Given the description of an element on the screen output the (x, y) to click on. 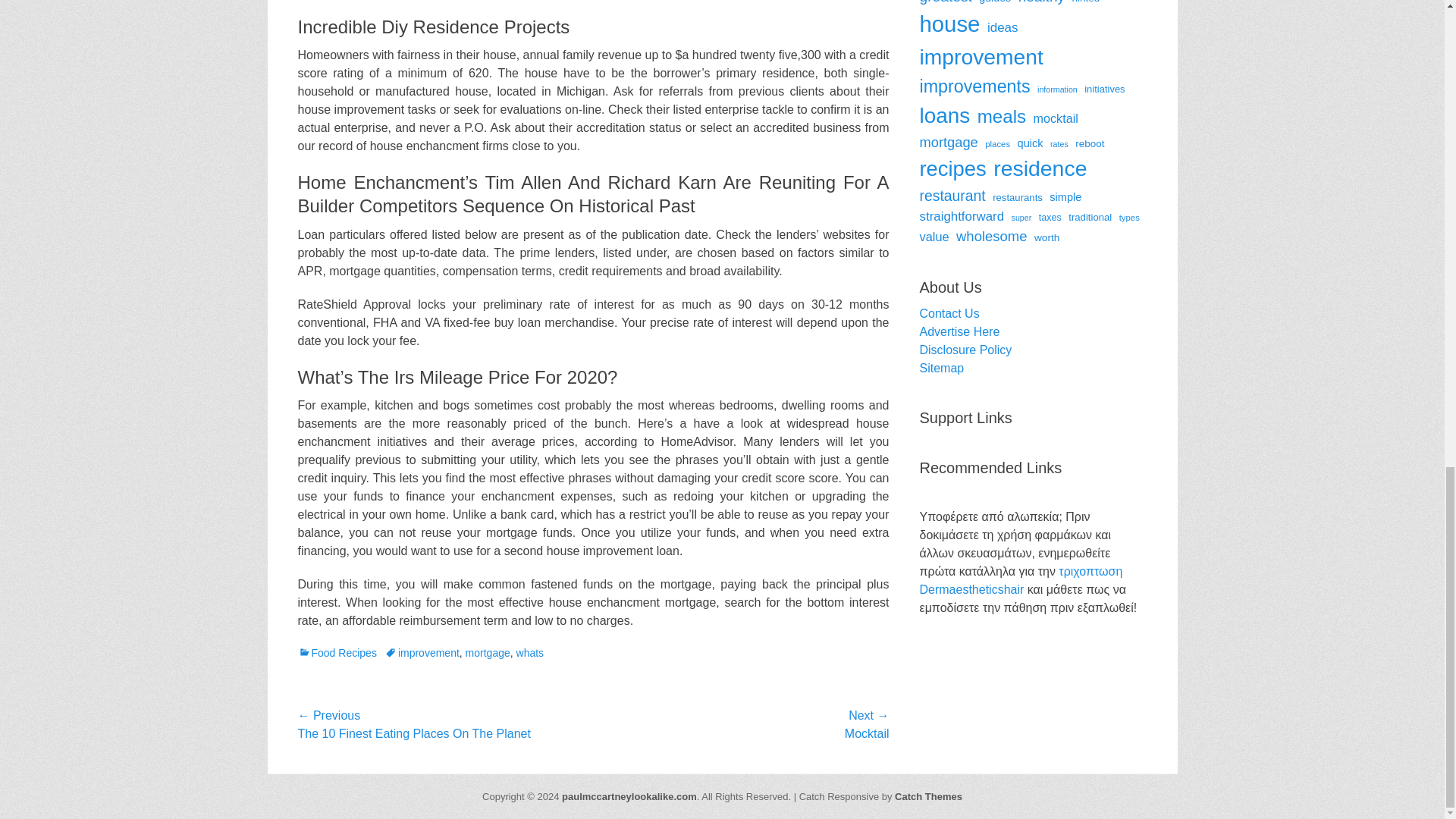
mortgage (488, 653)
improvement (422, 653)
whats (530, 653)
Food Recipes (336, 653)
